Given the description of an element on the screen output the (x, y) to click on. 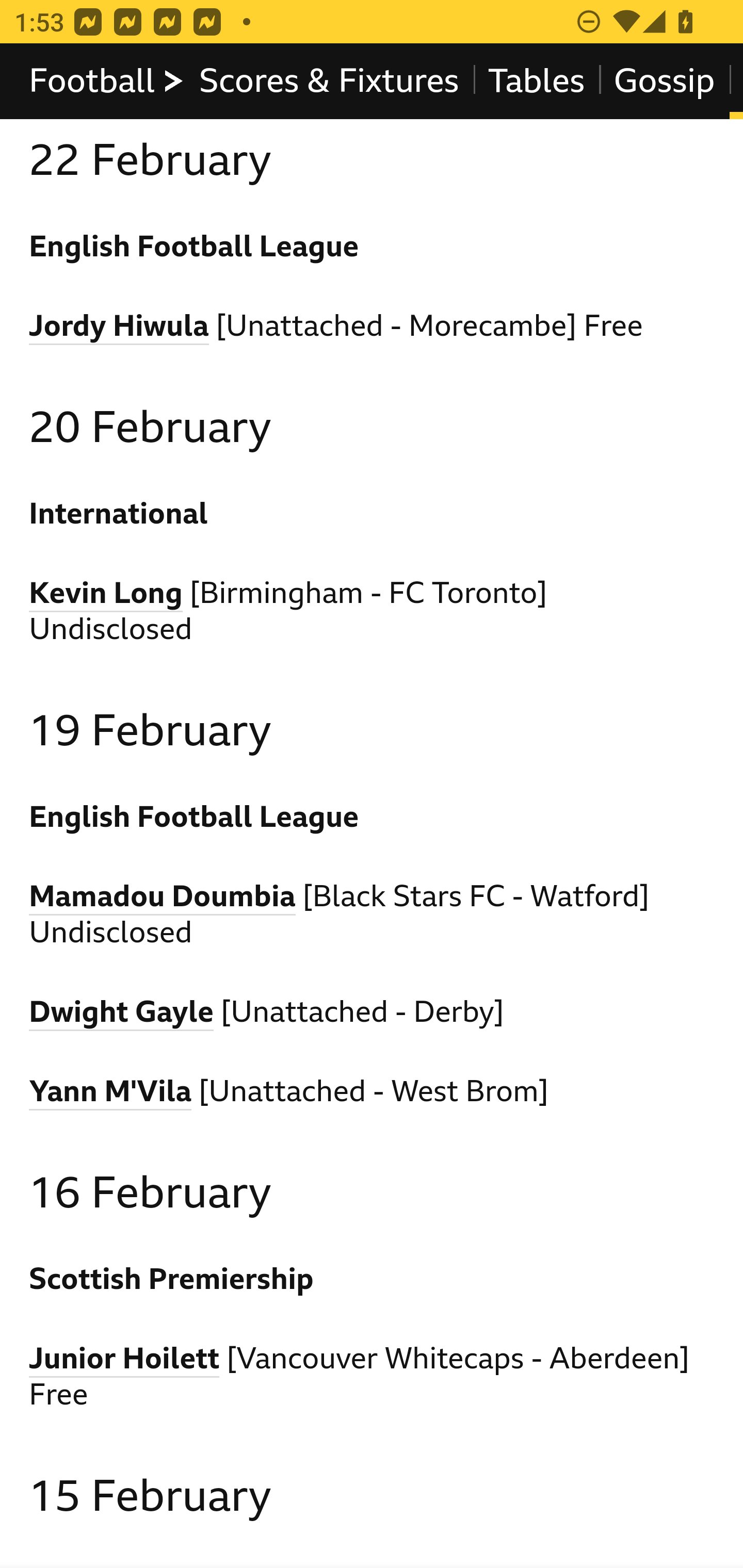
Jordy Hiwula (118, 329)
Kevin Long (106, 595)
Mamadou Doumbia (162, 899)
Dwight Gayle (121, 1015)
Yann M'Vila (110, 1094)
Junior Hoilett (124, 1361)
